Given the description of an element on the screen output the (x, y) to click on. 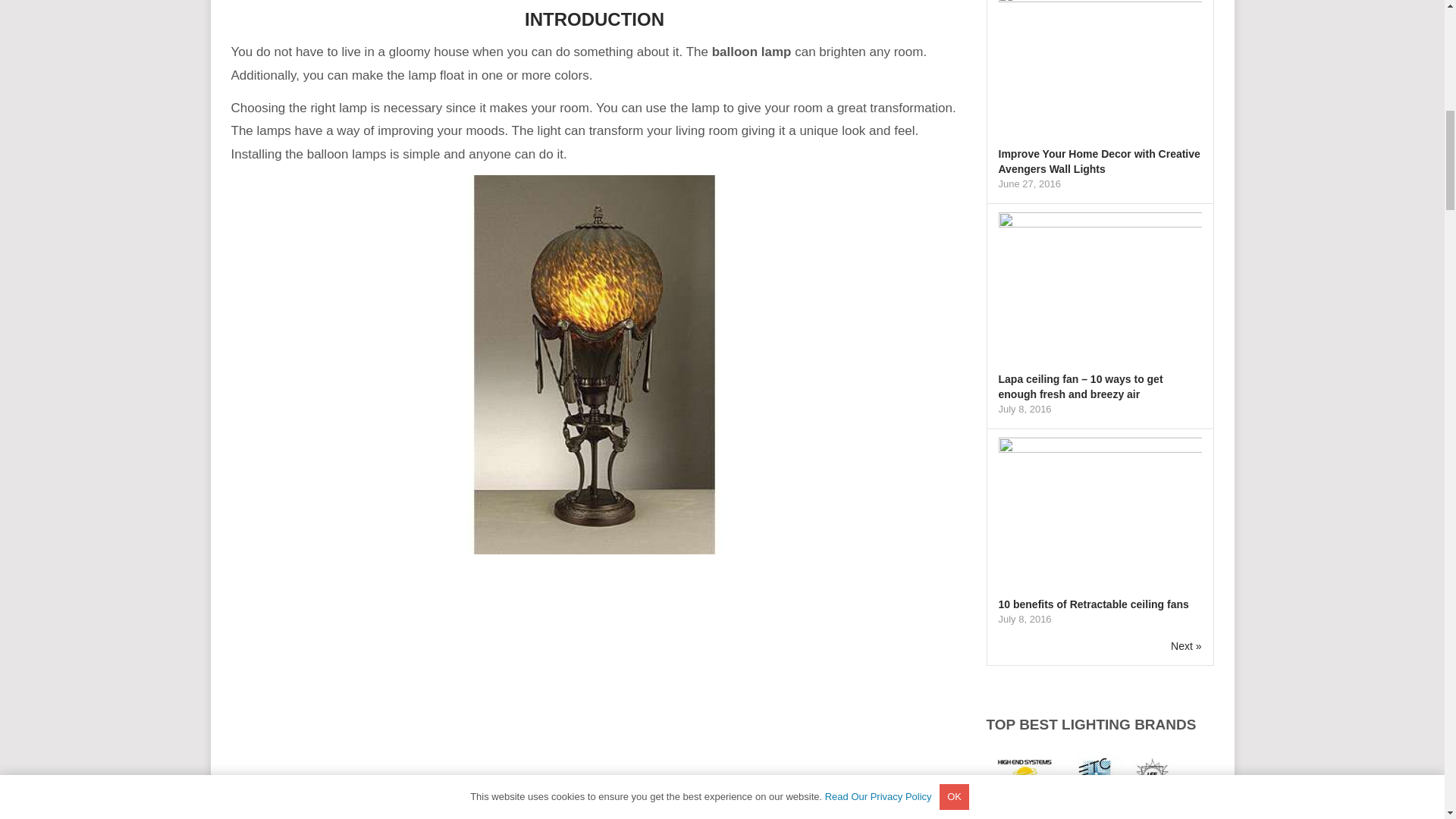
10 benefits of Retractable ceiling fans (1092, 604)
Improve Your Home Decor with Creative Avengers Wall Lights (1098, 161)
